Given the description of an element on the screen output the (x, y) to click on. 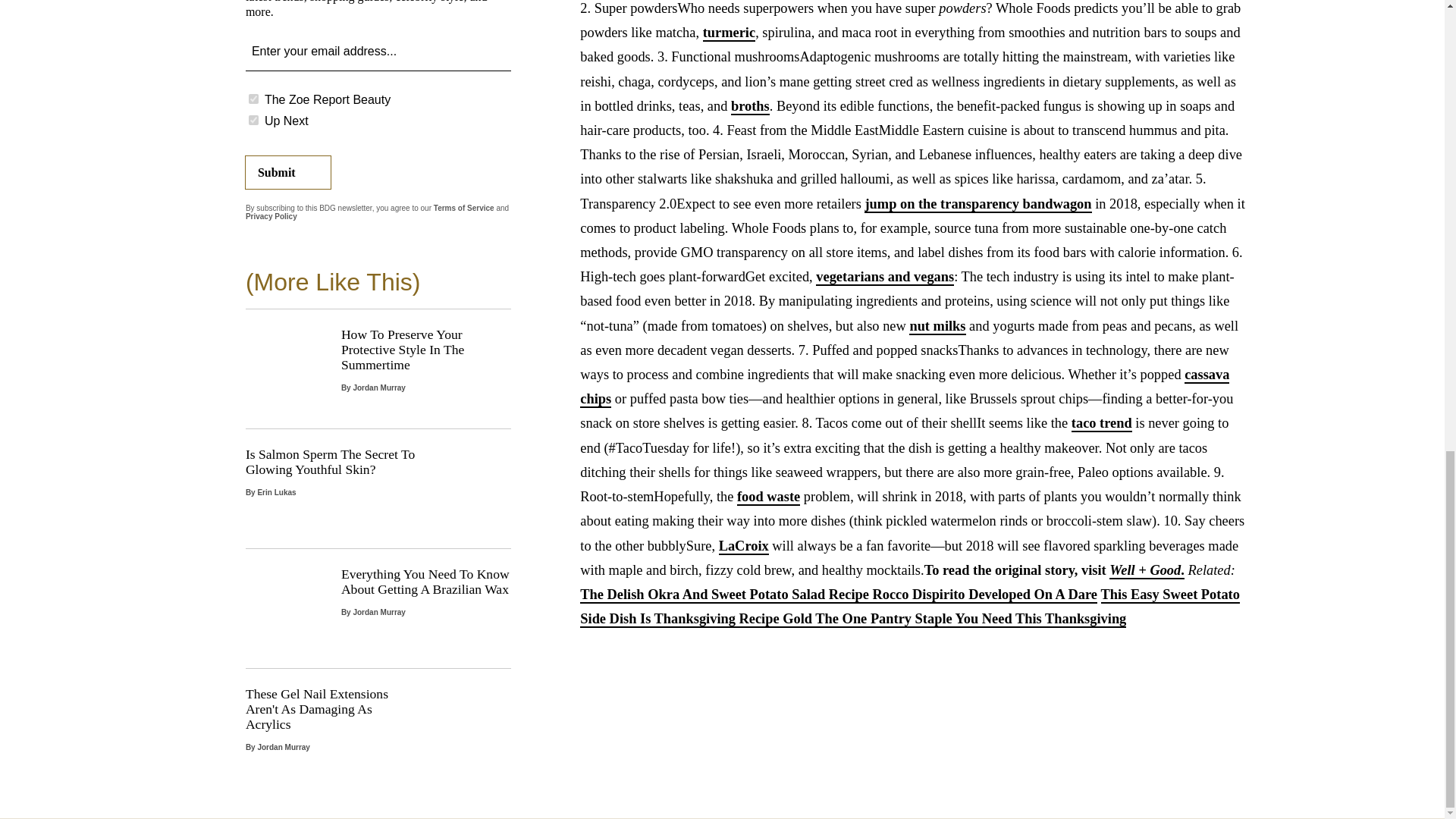
This Easy Sweet Potato Side Dish Is Thanksgiving Recipe Gold (909, 607)
cassava chips (903, 386)
nut milks (936, 326)
taco trend (1101, 423)
Submit (288, 172)
turmeric (729, 33)
Terms of Service (464, 207)
Privacy Policy (271, 216)
broths (750, 106)
food waste (767, 497)
